Given the description of an element on the screen output the (x, y) to click on. 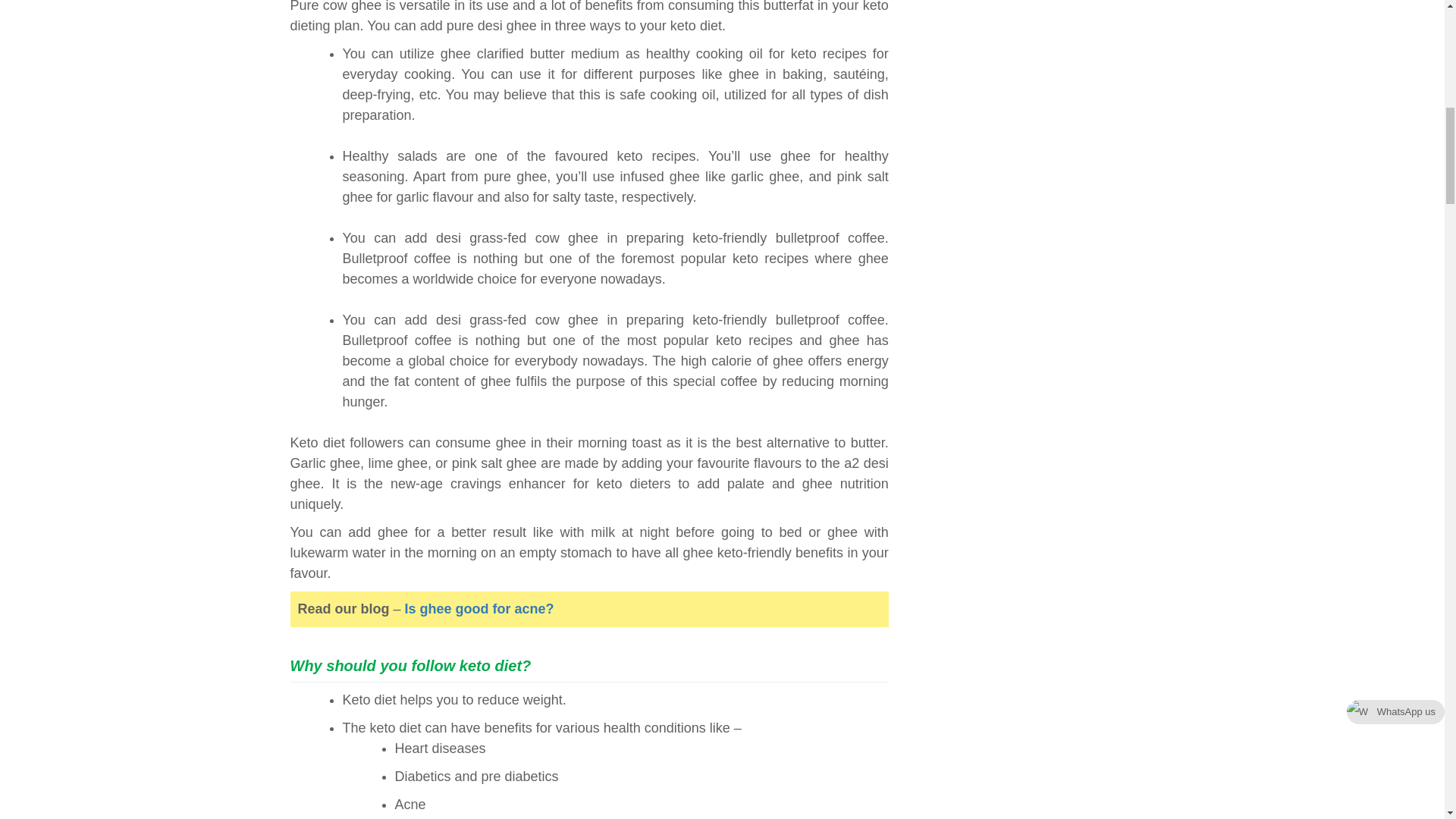
Is ghee good for acne? (479, 608)
